Given the description of an element on the screen output the (x, y) to click on. 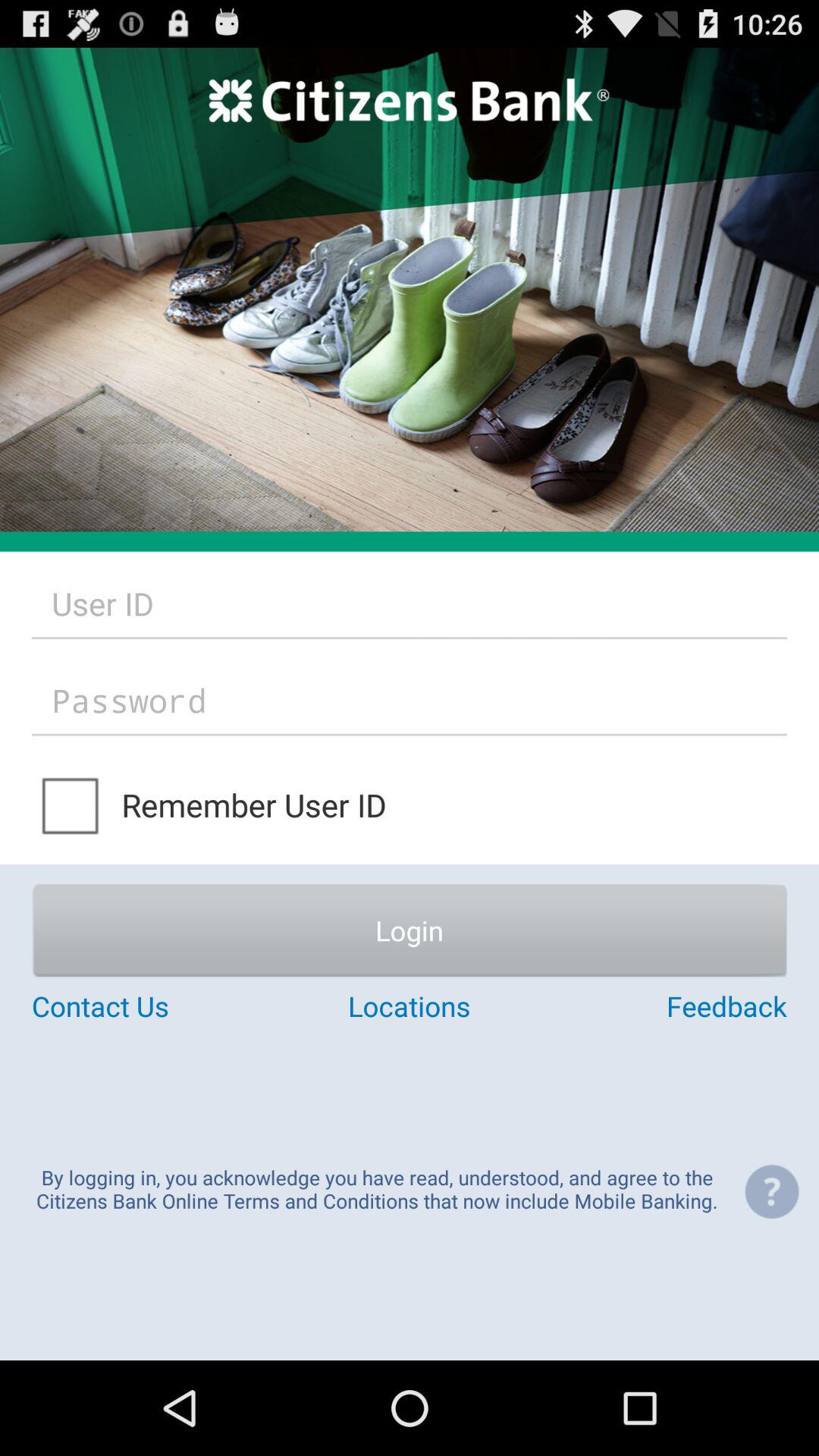
flip to contact us app (157, 1005)
